Given the description of an element on the screen output the (x, y) to click on. 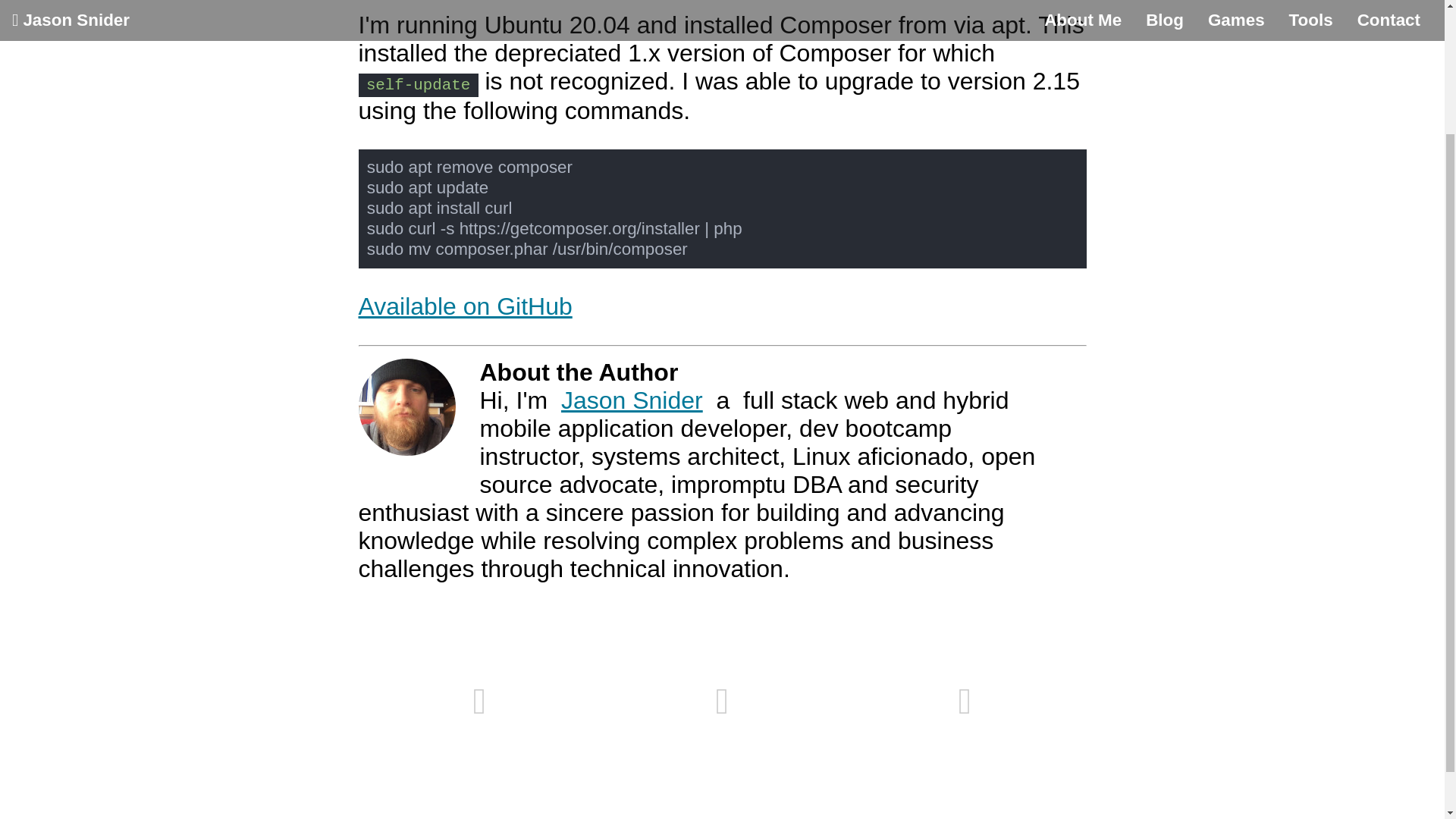
LinkedIn (478, 700)
Twitter (964, 700)
Jason Snider (631, 400)
GitHub (721, 700)
Available on GitHub (465, 306)
